Given the description of an element on the screen output the (x, y) to click on. 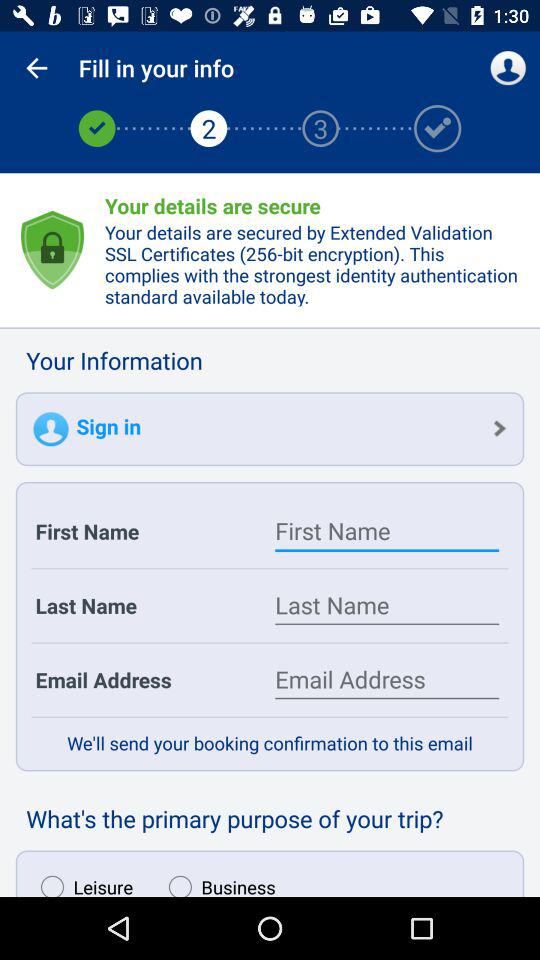
choose icon next to leisure radio button (217, 881)
